Given the description of an element on the screen output the (x, y) to click on. 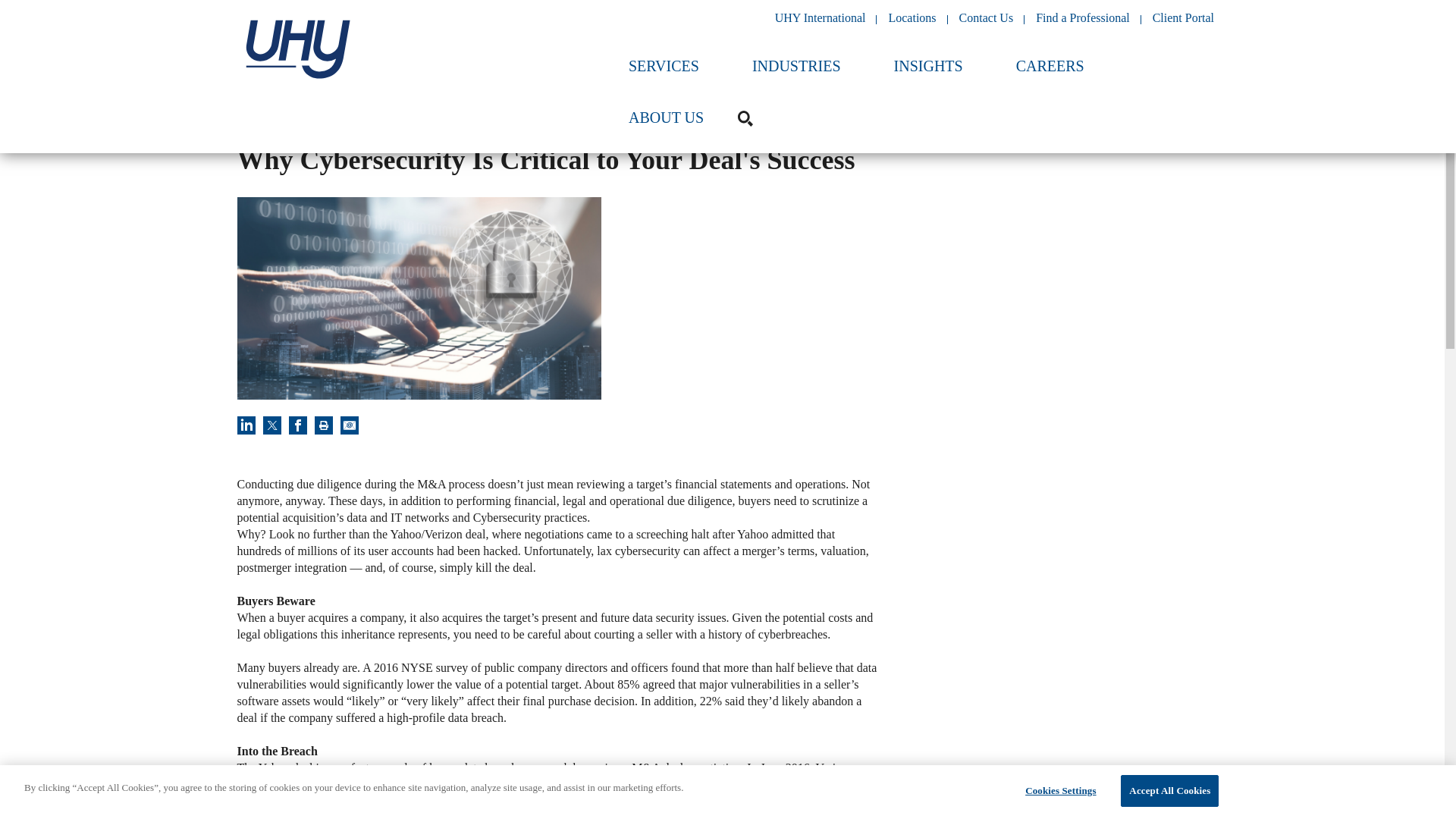
Find a Professional (1082, 17)
Client Portal (1183, 17)
UHY International (820, 17)
INDUSTRIES (796, 74)
Locations (912, 17)
Contact Us (986, 17)
SERVICES (663, 74)
